Given the description of an element on the screen output the (x, y) to click on. 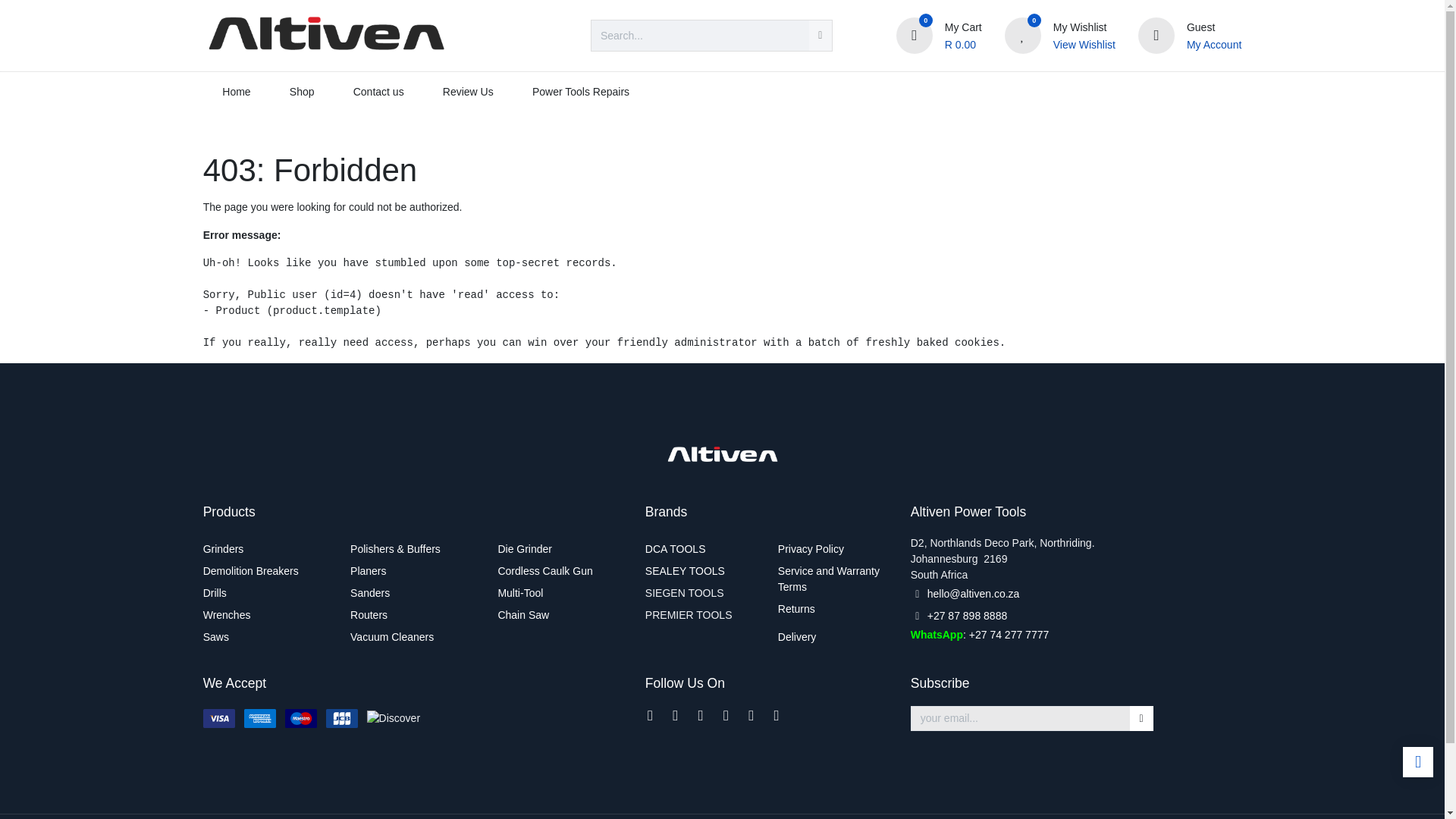
Contact us (378, 92)
Scroll back to top (1417, 761)
Home (236, 92)
View Wishlist (1083, 44)
0 (914, 34)
Shop (301, 92)
Review Us (467, 92)
Power Tools Repairs (579, 92)
My Account (1213, 44)
0 (1022, 34)
